Given the description of an element on the screen output the (x, y) to click on. 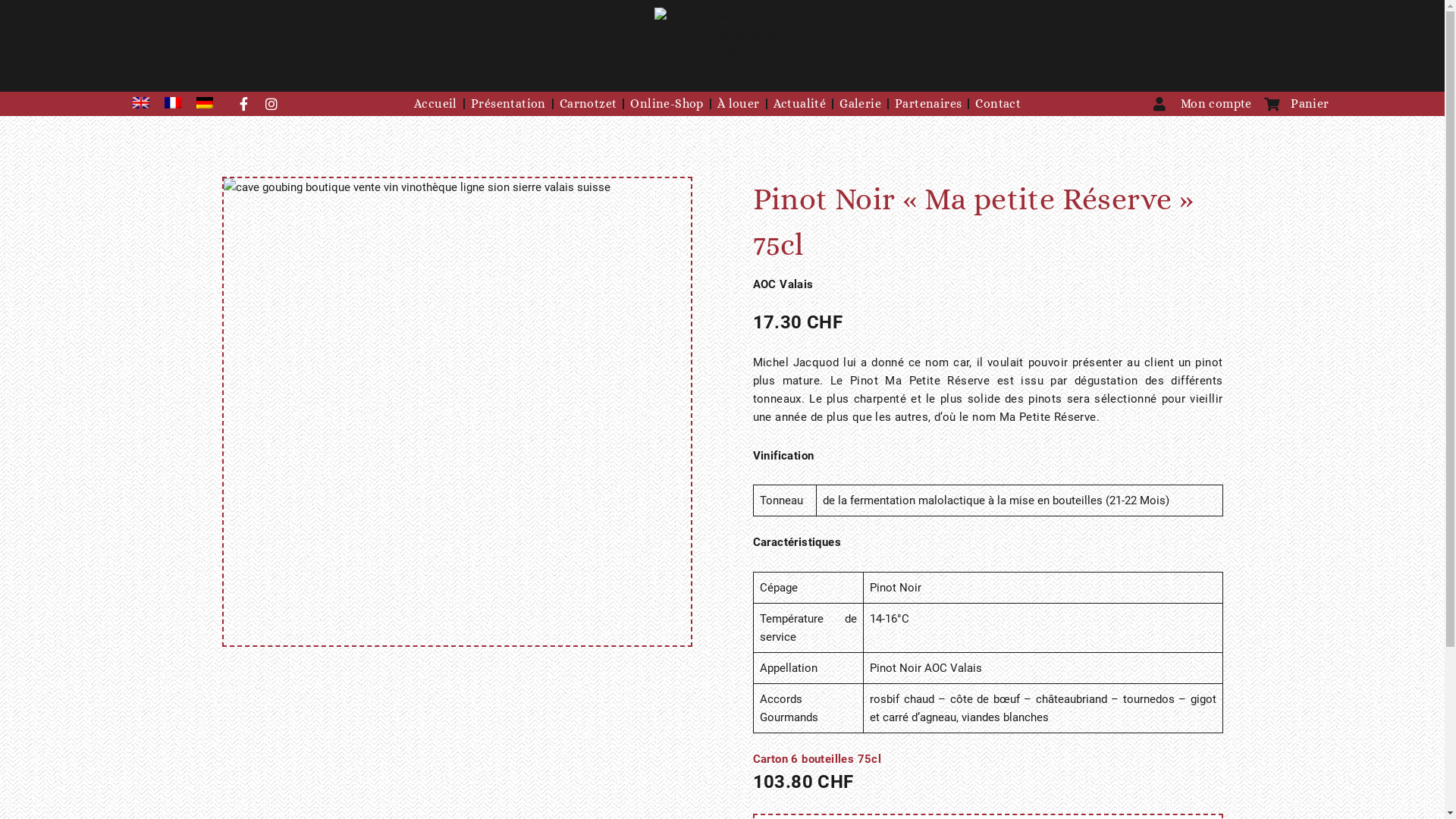
Contact Element type: text (997, 103)
Carnotzet Element type: text (588, 103)
Accueil Element type: text (435, 103)
Panier Element type: text (1296, 103)
Galerie Element type: text (860, 103)
Online-Shop Element type: text (666, 103)
Partenaires Element type: text (927, 103)
Mon compte Element type: text (1202, 103)
